Given the description of an element on the screen output the (x, y) to click on. 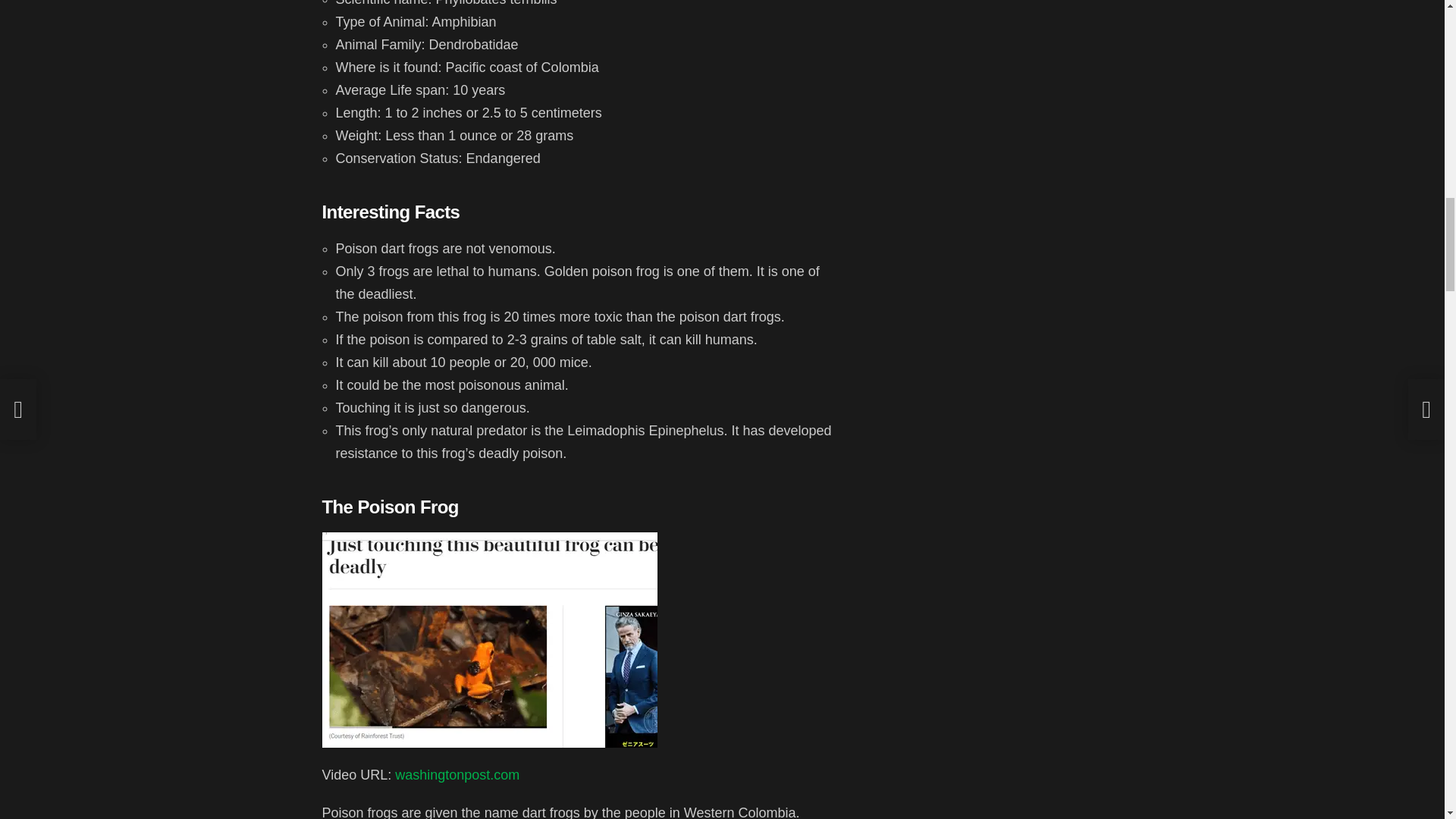
washingtonpost.com (456, 774)
